Given the description of an element on the screen output the (x, y) to click on. 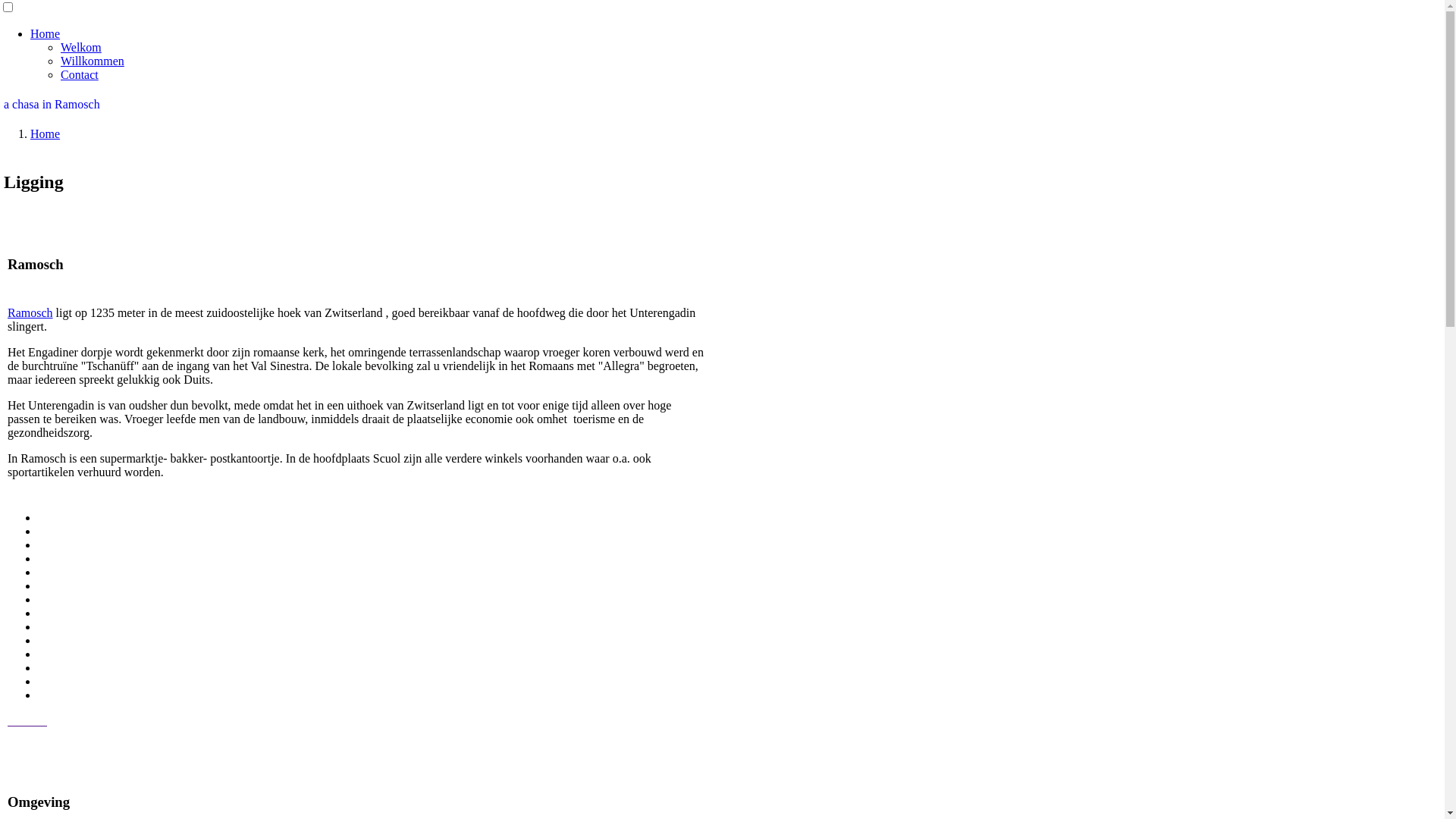
Welkom Element type: text (80, 46)
a chasa in Ramosch Element type: text (51, 103)
Home Element type: text (44, 133)
Willkommen Element type: text (92, 60)
Contact Element type: text (79, 74)
Home Element type: text (44, 33)
Ramosch Element type: text (30, 312)
